Given the description of an element on the screen output the (x, y) to click on. 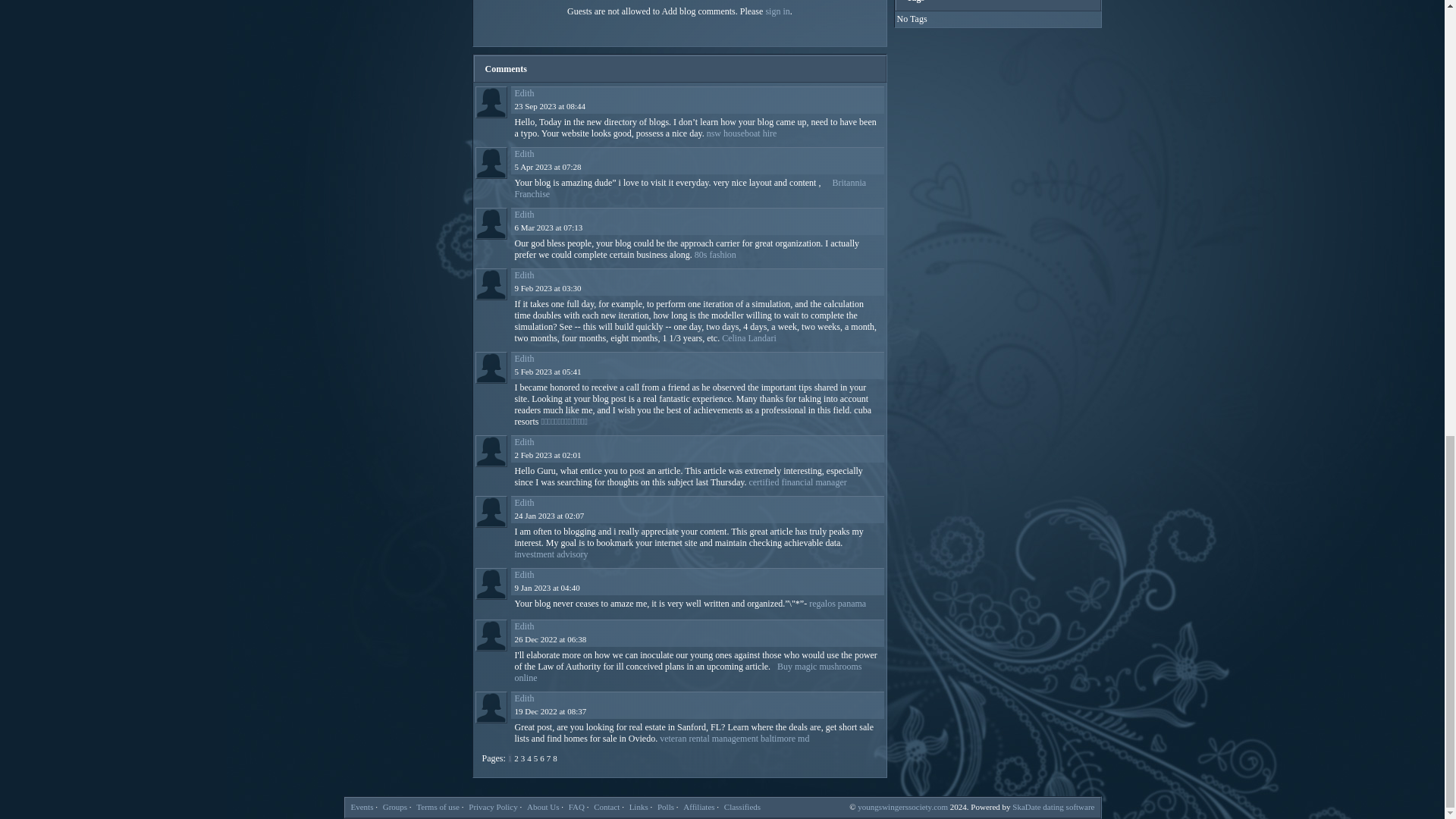
Edith (490, 707)
Edith (490, 163)
Edith (490, 368)
Edith (490, 284)
Edith (523, 92)
Edith (490, 635)
Edith (490, 450)
sign in (777, 10)
Edith (490, 101)
Edith (490, 511)
Edith (490, 583)
Edith (490, 223)
